Given the description of an element on the screen output the (x, y) to click on. 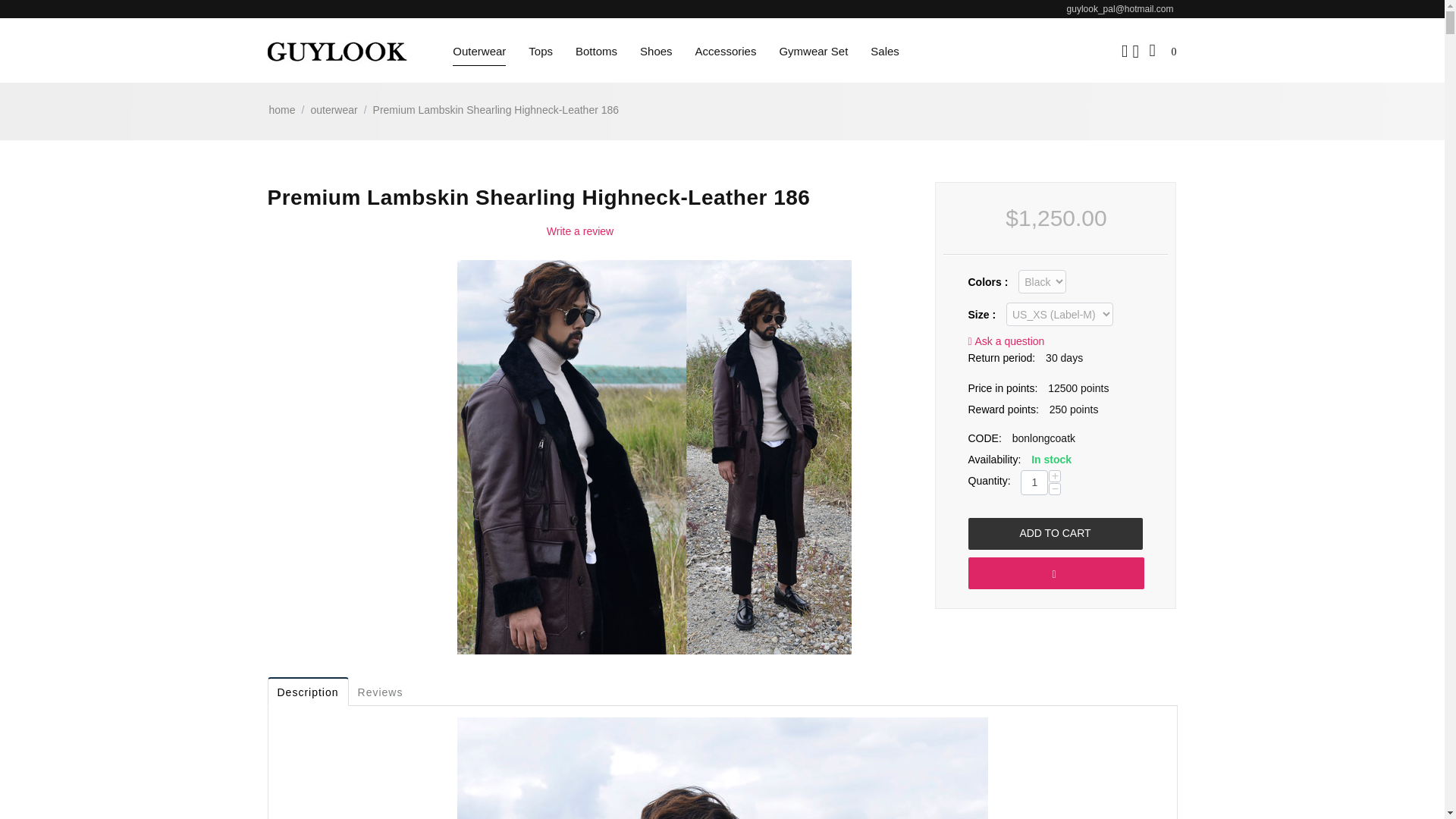
Accessories (726, 50)
Sales (884, 50)
Write a review (579, 231)
Add to wish list (1055, 572)
Ask a question (1005, 340)
1 (1034, 482)
Gymwear Set (812, 50)
Outerwear (478, 50)
Shoes (656, 50)
Bottoms (596, 50)
Tops (540, 50)
